Given the description of an element on the screen output the (x, y) to click on. 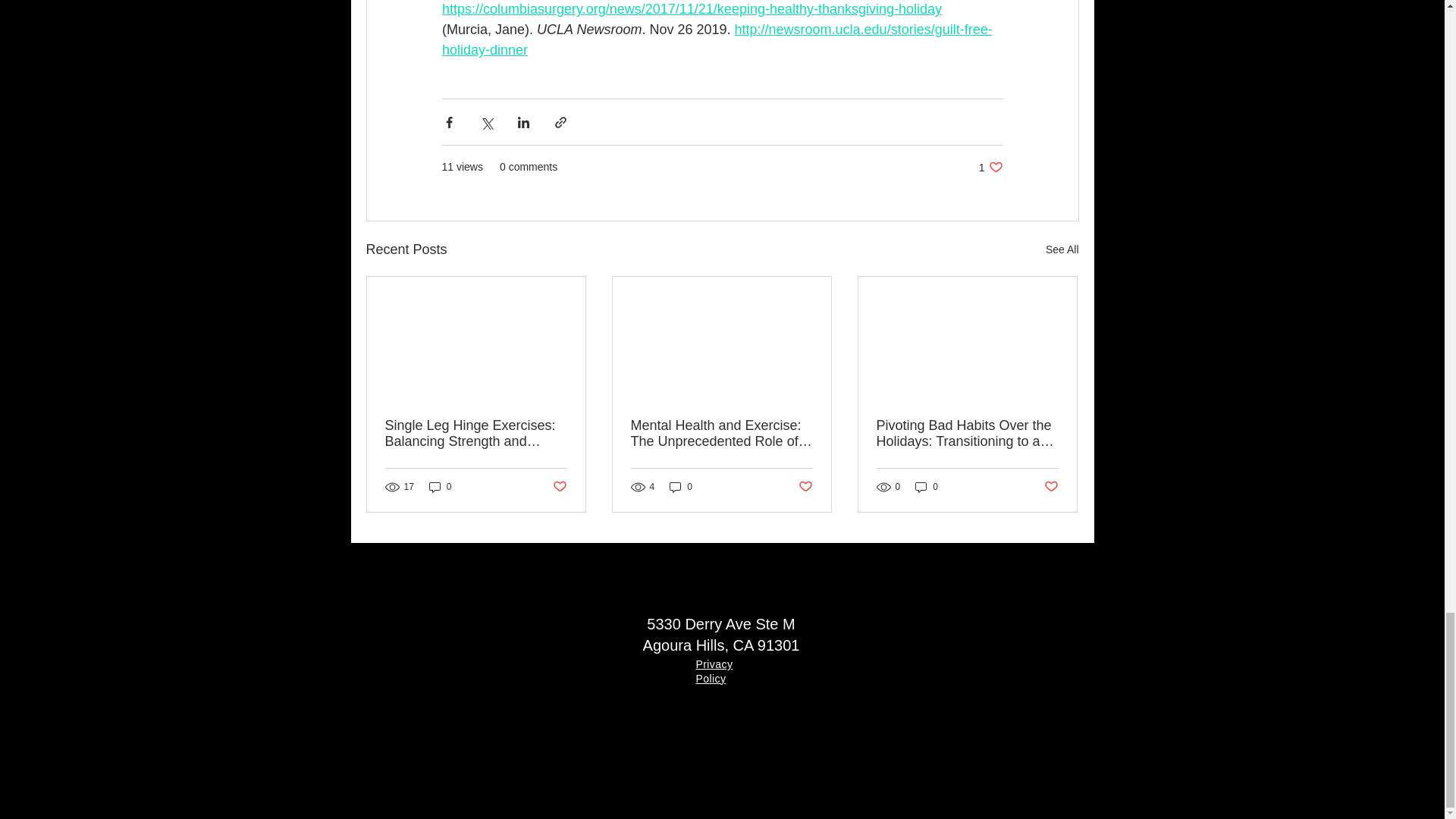
Post not marked as liked (990, 166)
See All (558, 487)
Post not marked as liked (1061, 250)
Privacy Policy (804, 487)
0 (714, 670)
Post not marked as liked (926, 486)
0 (1050, 487)
0 (440, 486)
